Given the description of an element on the screen output the (x, y) to click on. 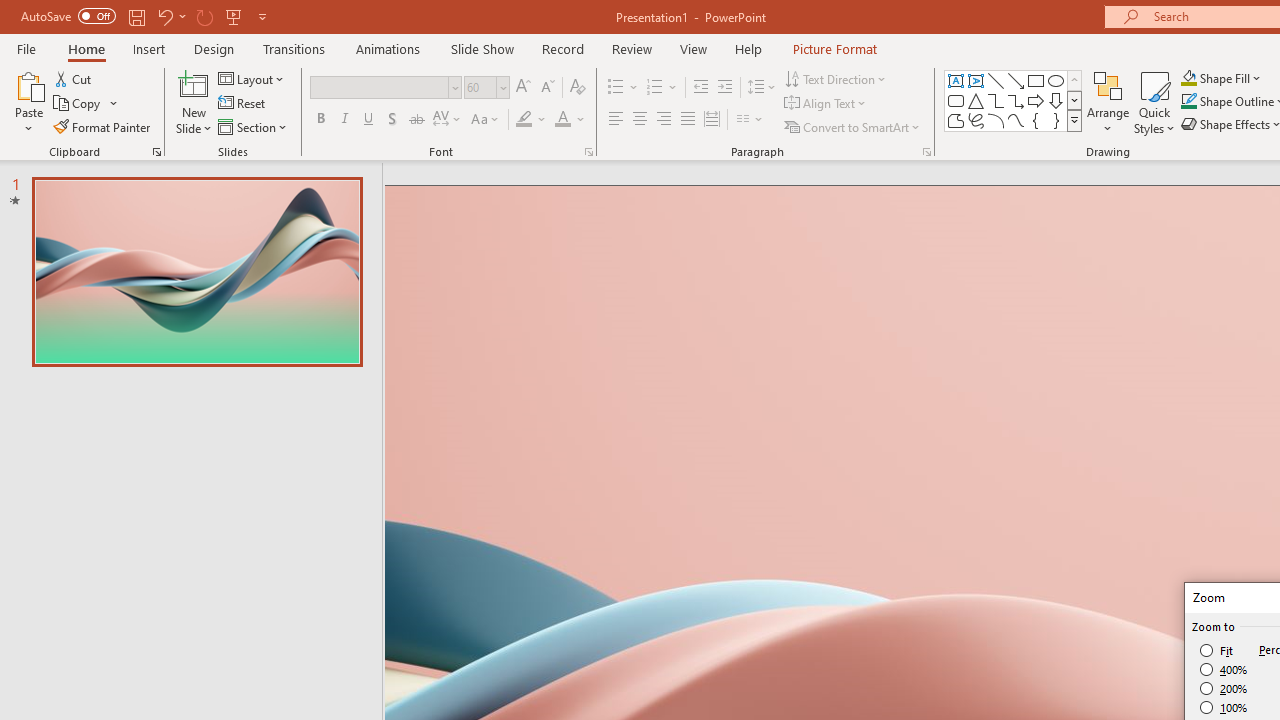
Fit (1217, 650)
